Given the description of an element on the screen output the (x, y) to click on. 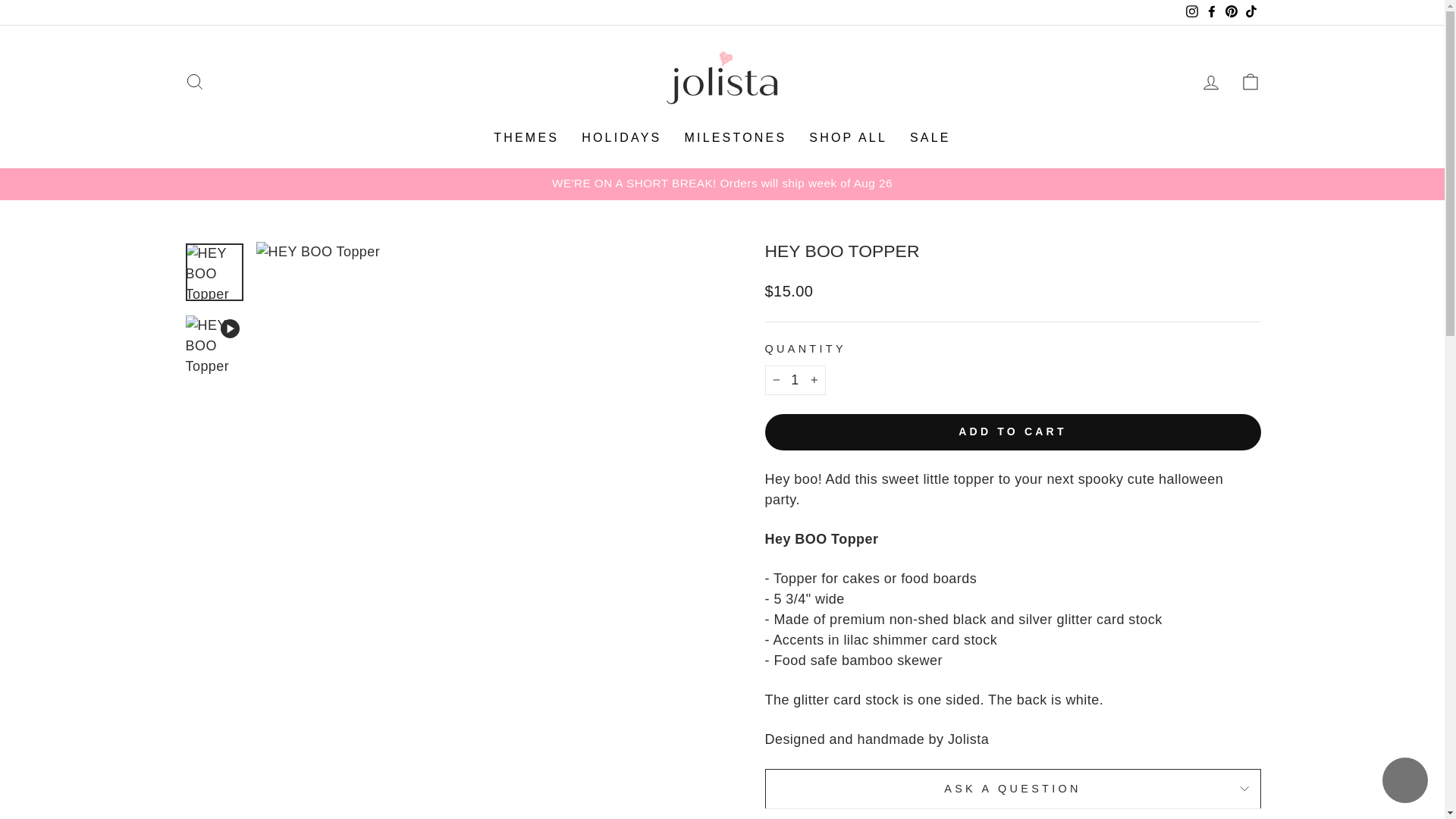
Shopify online store chat (1404, 781)
1 (794, 379)
